Given the description of an element on the screen output the (x, y) to click on. 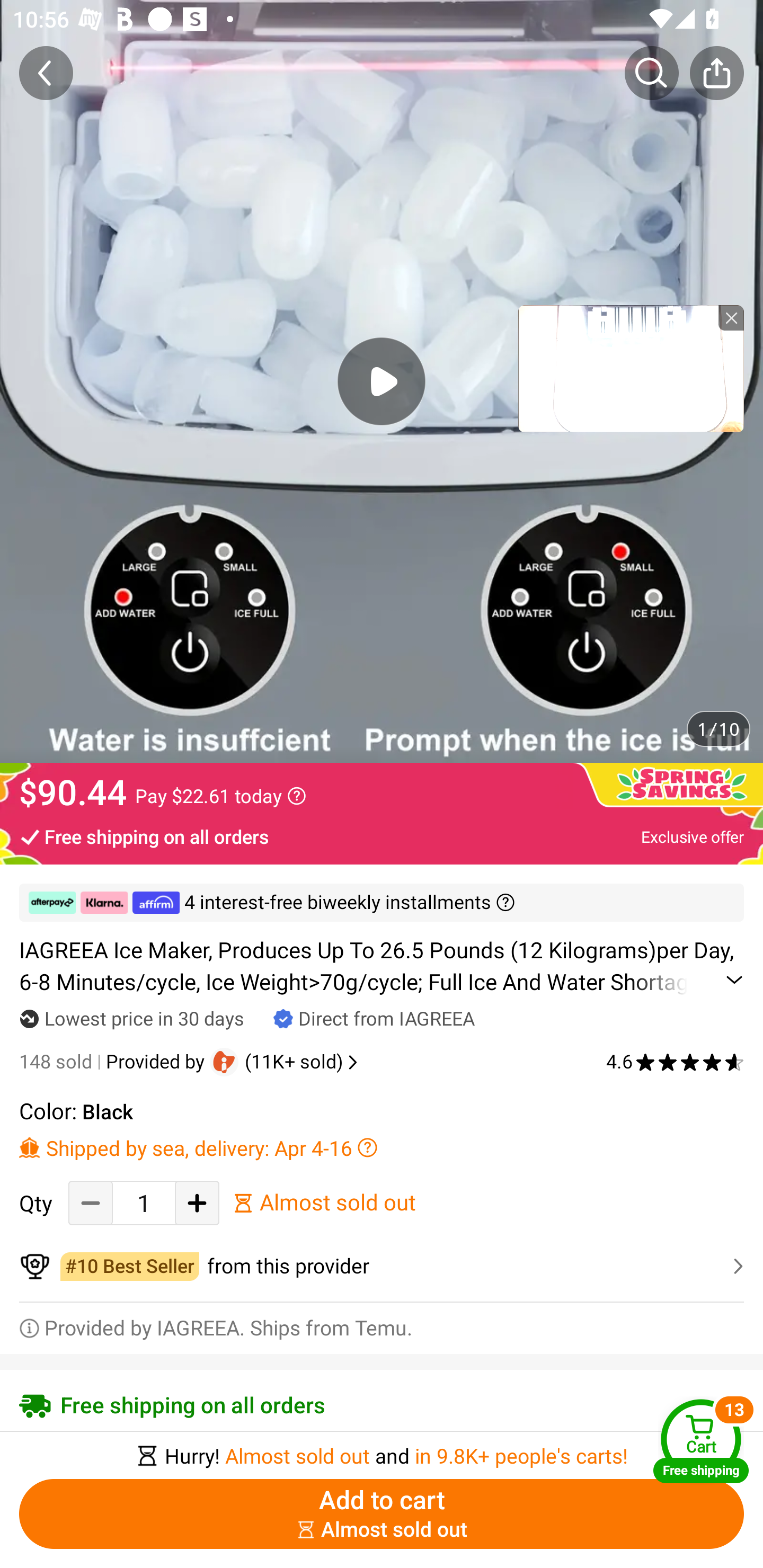
Back (46, 72)
Share (716, 72)
tronplayer_view (631, 368)
Pay $22.61 today   (220, 795)
Free shipping on all orders Exclusive offer (381, 836)
￼ ￼ ￼ 4 interest-free biweekly installments ￼ (381, 902)
4.6 (674, 1061)
Shipped by sea, delivery: Apr 4-16 (381, 1147)
Decrease Quantity Button (90, 1202)
1 (143, 1202)
Add Quantity button (196, 1202)
￼￼from this provider (381, 1265)
Cart Free shipping Cart (701, 1440)
Add to cart ￼￼Almost sold out (381, 1513)
